Given the description of an element on the screen output the (x, y) to click on. 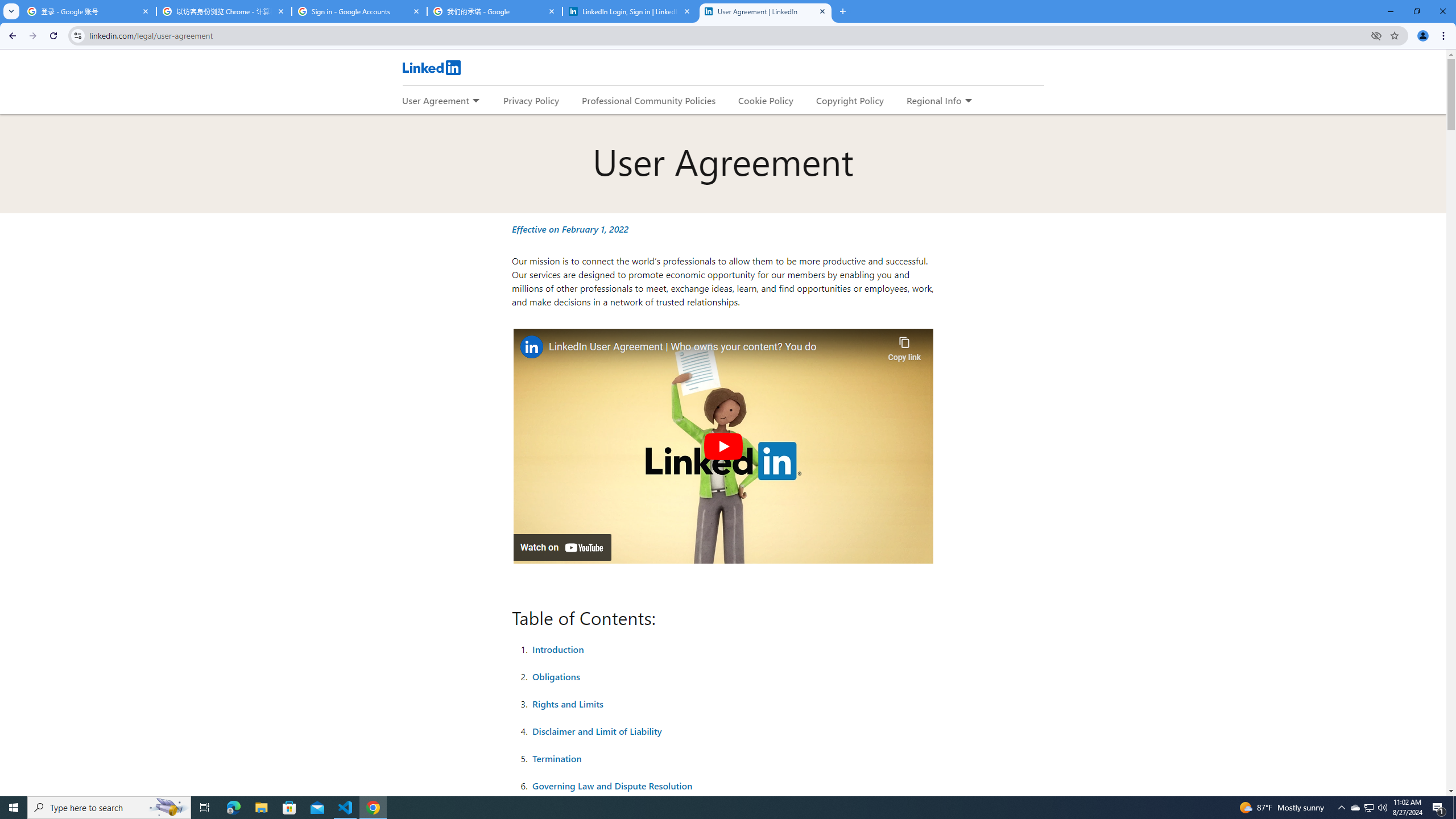
Effective on February 1, 2022 (570, 228)
